Given the description of an element on the screen output the (x, y) to click on. 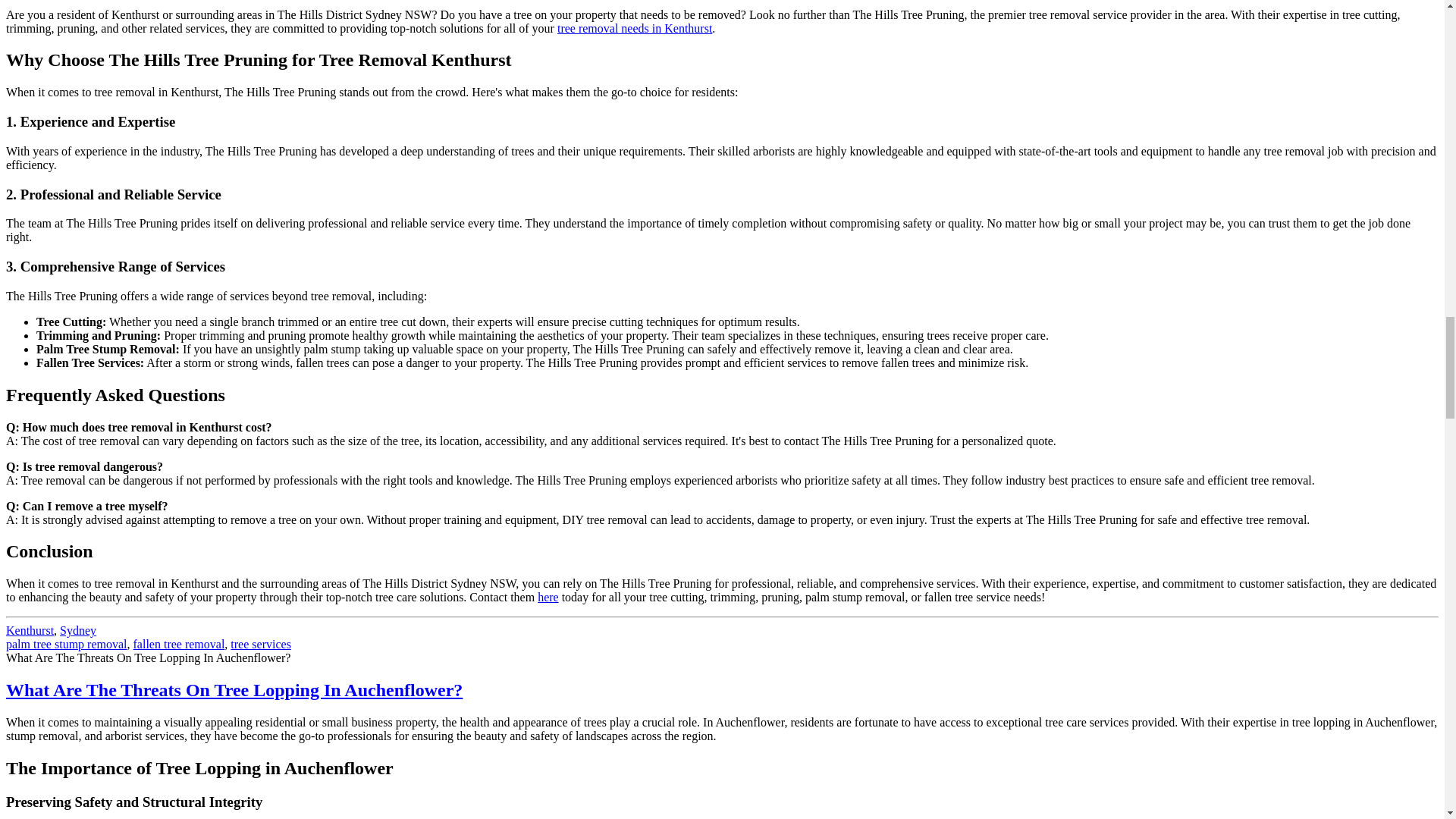
palm tree stump removal (66, 644)
Kenthurst (29, 630)
fallen tree removal (179, 644)
tree removal needs in Kenthurst (634, 28)
here (548, 596)
What Are The Threats On Tree Lopping In Auchenflower? (234, 690)
tree services (260, 644)
Sydney (77, 630)
